Given the description of an element on the screen output the (x, y) to click on. 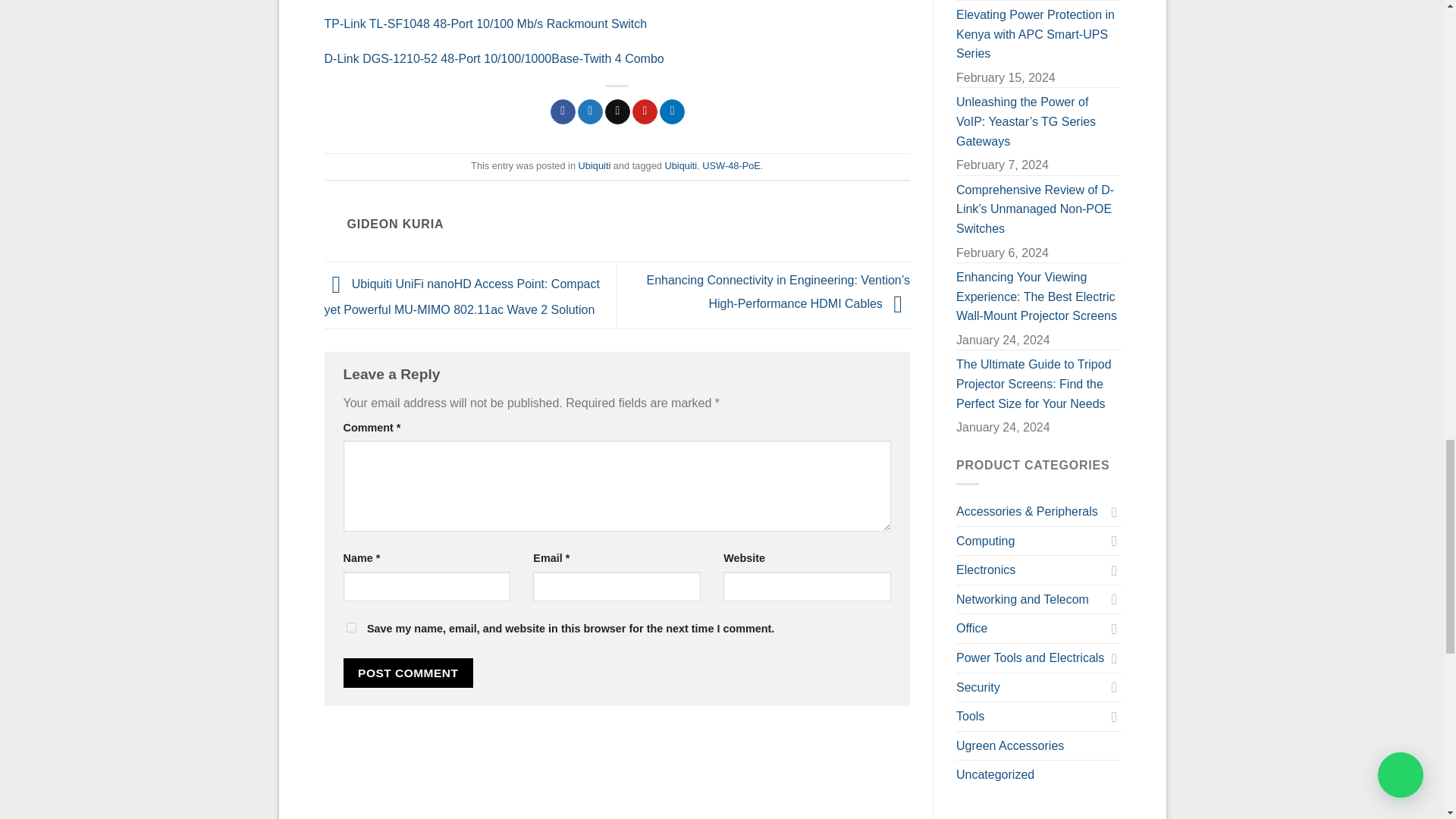
Share on Facebook (562, 112)
yes (350, 627)
Post Comment (407, 672)
